Given the description of an element on the screen output the (x, y) to click on. 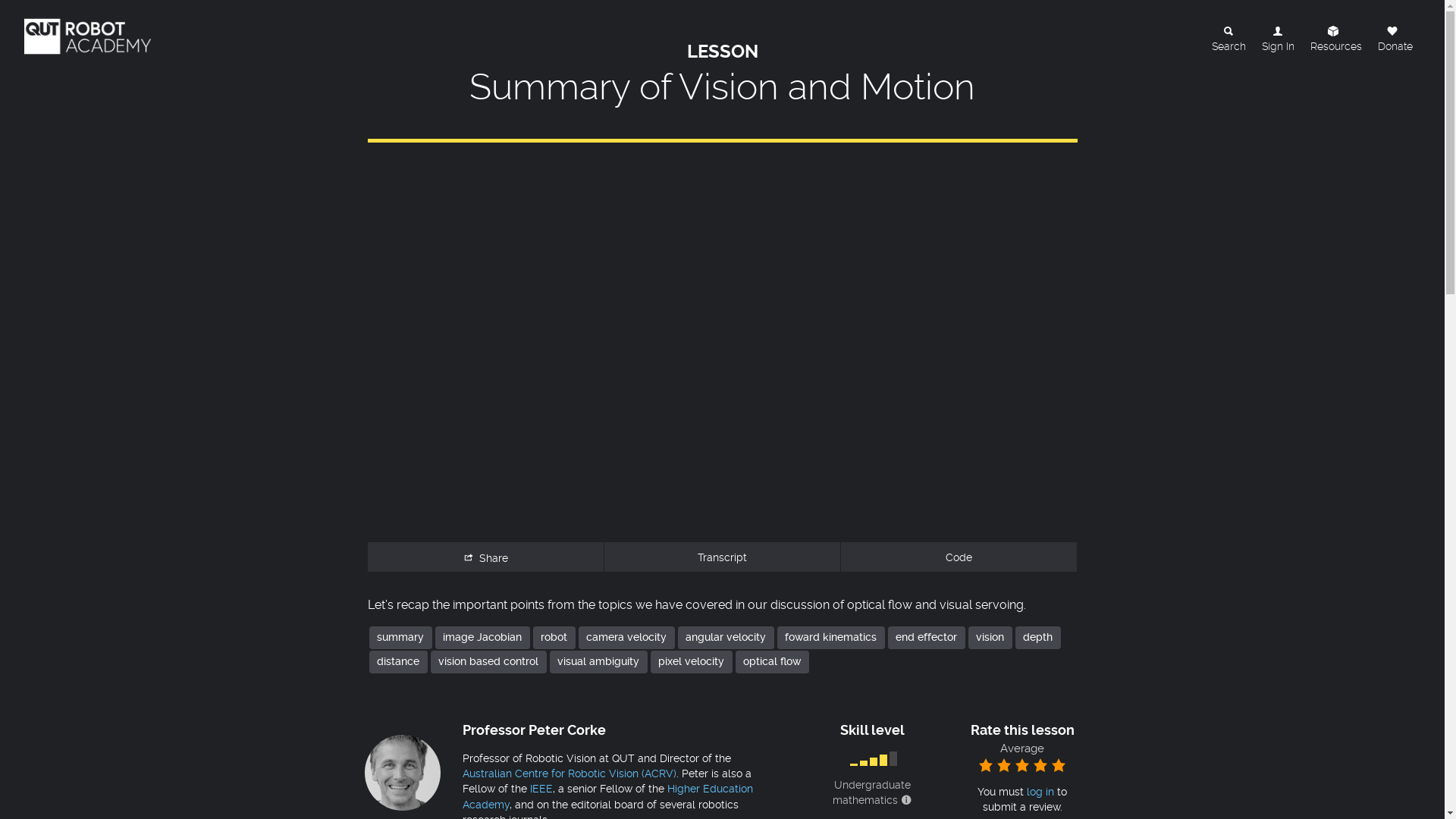
Code Element type: text (958, 557)
foward kinematics Element type: text (830, 637)
distance Element type: text (397, 661)
angular velocity Element type: text (725, 637)
Australian Centre for Robotic Vision (ACRV) Element type: text (569, 773)
summary Element type: text (399, 637)
IEEE Element type: text (541, 788)
Share Element type: text (485, 557)
Donate Element type: text (1394, 37)
Higher Education Academy Element type: text (607, 795)
depth Element type: text (1037, 637)
Sign In Element type: text (1277, 37)
vision based control Element type: text (488, 661)
camera velocity Element type: text (625, 637)
log in Element type: text (1040, 791)
vision Element type: text (989, 637)
Search Element type: text (1228, 37)
visual ambiguity Element type: text (597, 661)
Transcript Element type: text (722, 557)
end effector Element type: text (925, 637)
robot Element type: text (553, 637)
pixel velocity Element type: text (691, 661)
image Jacobian Element type: text (482, 637)
optical flow Element type: text (772, 661)
Resources Element type: text (1335, 37)
